Given the description of an element on the screen output the (x, y) to click on. 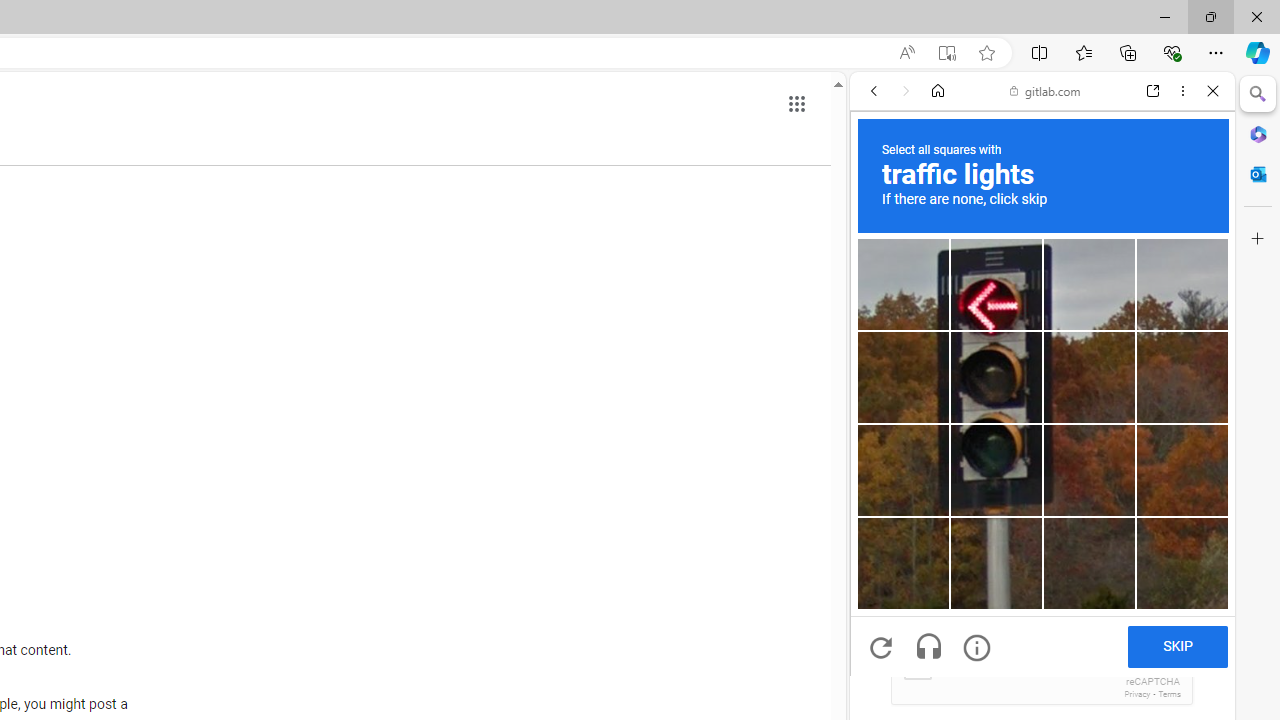
Register Now (1042, 445)
About GitLab (1042, 592)
Confirmation Page (1042, 690)
Email (1042, 530)
Terms (1169, 694)
